Given the description of an element on the screen output the (x, y) to click on. 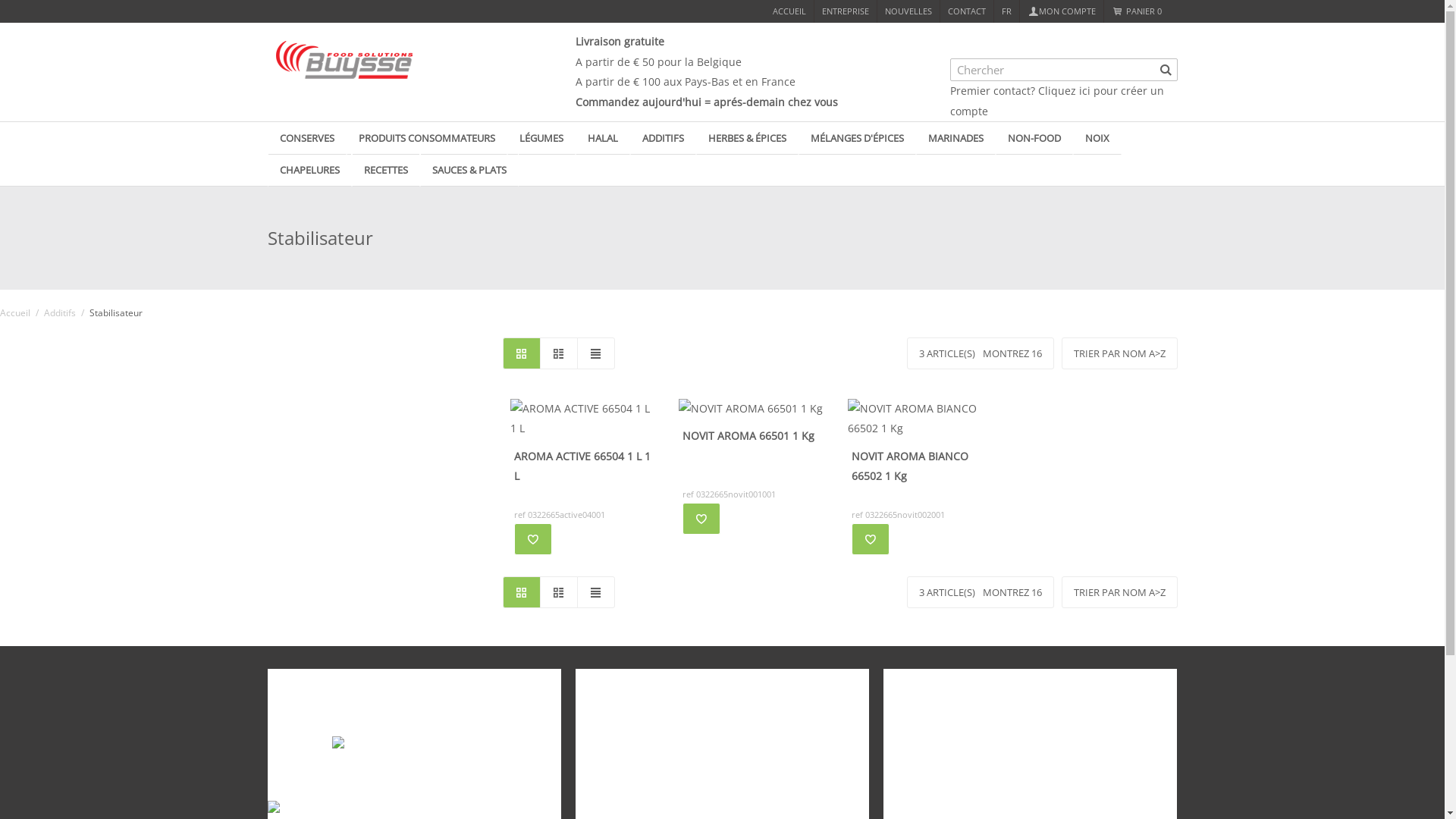
HALAL Element type: text (602, 137)
CONSERVES Element type: text (306, 137)
RECETTES Element type: text (384, 169)
CONTACT Element type: text (602, 679)
NOVIT AROMA 66501 1 Kg
ref 0322665novit001001
FAVORI Element type: text (751, 462)
CHAPELURES Element type: text (309, 169)
SAUCES & PLATS Element type: text (468, 169)
Additifs Element type: text (59, 313)
Chercher Element type: hover (1165, 69)
Profil Element type: text (894, 715)
ACCUEIL Element type: text (789, 10)
Panier Element type: text (896, 743)
Pagani chef Element type: hover (355, 754)
AROMA ACTIVE 66504 1 L 1 L
ref 0322665active04001
FAVORI Element type: text (582, 473)
SMALL LIST Element type: text (595, 353)
NOVIT AROMA BIANCO 66502 1 Kg
ref 0322665novit002001
FAVORI Element type: text (920, 473)
MON COMPTE Element type: text (923, 679)
MARINADES Element type: text (955, 137)
GRILLE Element type: text (520, 592)
NOIX Element type: text (1096, 137)
ENTREPRISE Element type: text (845, 10)
Fratelli Pagani   Element type: text (322, 752)
LISTE Element type: text (558, 353)
GRILLE Element type: text (520, 353)
Buysse Food Solutions Element type: text (313, 715)
NOUVELLES Element type: text (907, 10)
PRODUITS CONSOMMATEURS Element type: text (426, 137)
Commander Element type: text (909, 771)
NON-FOOD Element type: text (1034, 137)
ADDITIFS Element type: text (662, 137)
SMALL LIST Element type: text (595, 592)
CONTACT Element type: text (966, 10)
LISTE Element type: text (558, 592)
Accueil Element type: text (15, 313)
